Given the description of an element on the screen output the (x, y) to click on. 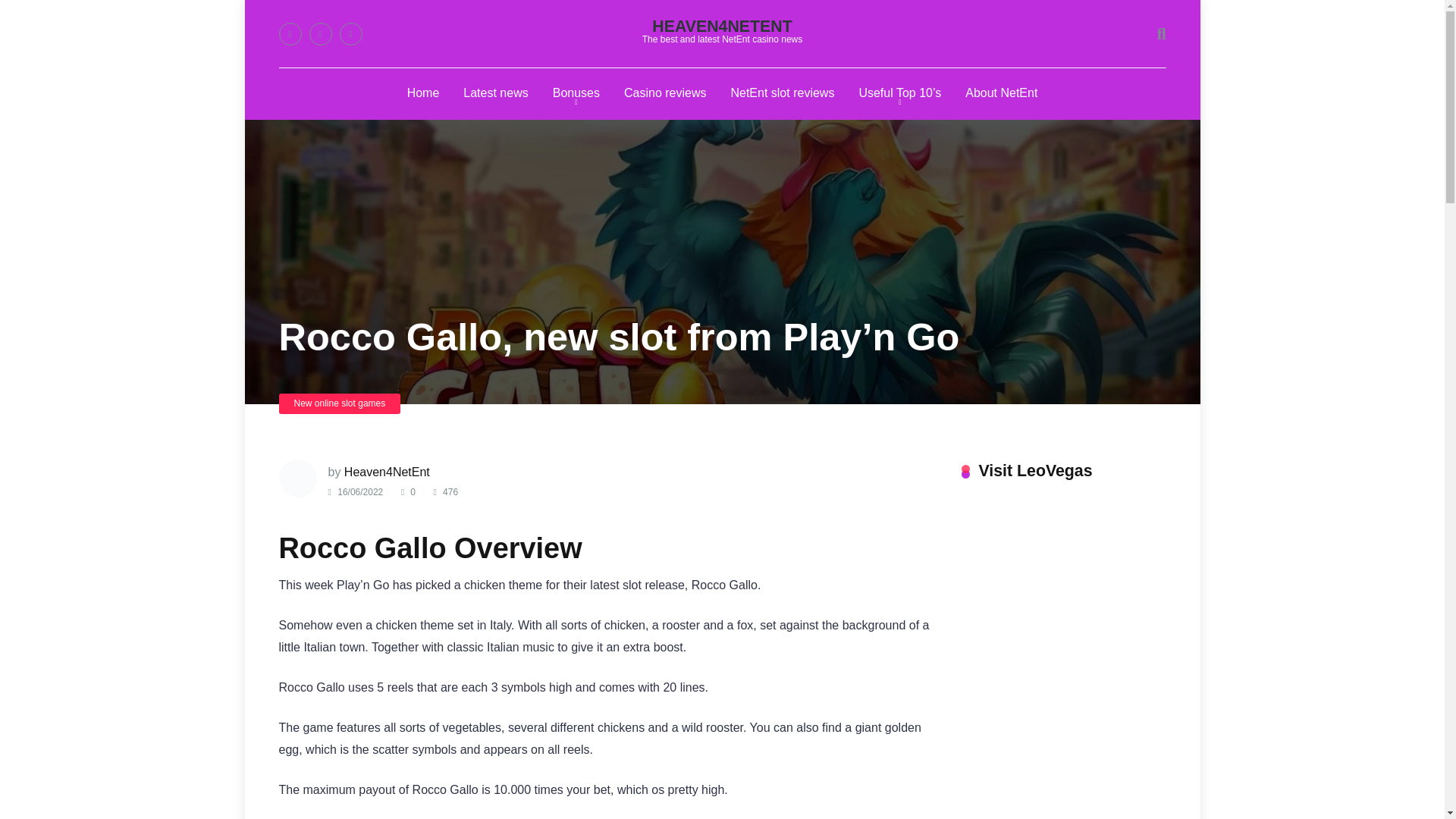
Twitter (290, 33)
Website (350, 33)
New online slot games (340, 403)
HEAVEN4NETENT (722, 26)
LinkedIn (319, 33)
Heaven4NetEnt (722, 26)
Posts by Heaven4NetEnt (386, 472)
Casino reviews (664, 93)
Latest news (495, 93)
Home (422, 93)
